Given the description of an element on the screen output the (x, y) to click on. 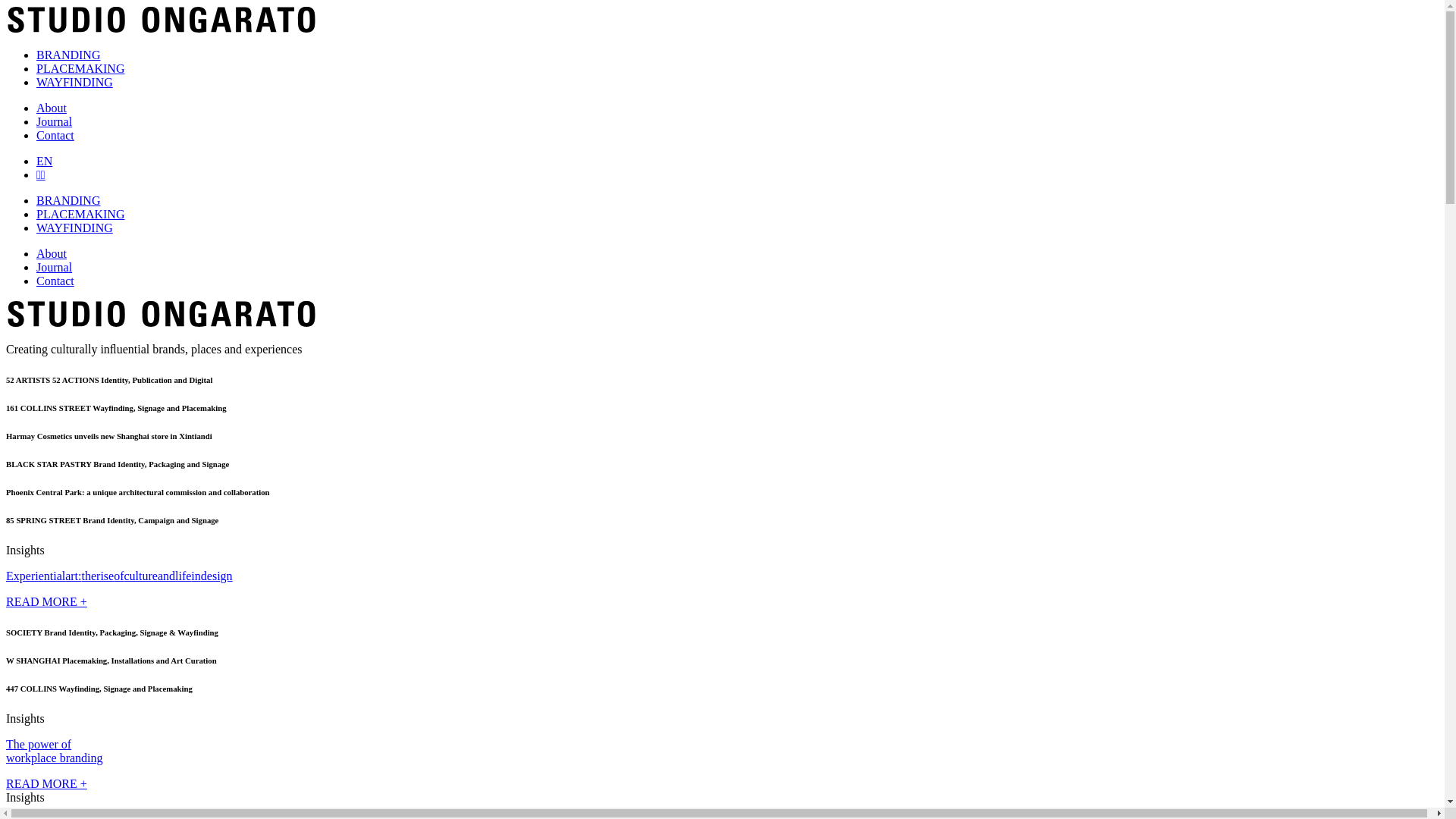
WAYFINDING Element type: text (74, 81)
PLACEMAKING Element type: text (80, 68)
PLACEMAKING Element type: text (80, 213)
Journal Element type: text (54, 266)
READ MORE + Element type: text (46, 783)
WAYFINDING Element type: text (74, 227)
EN Element type: text (44, 160)
Contact Element type: text (55, 280)
About Element type: text (51, 253)
READ MORE + Element type: text (46, 601)
BRANDING Element type: text (68, 54)
About Element type: text (51, 107)
Experientialart:theriseofcultureandlifeindesign Element type: text (722, 576)
The power of
workplace branding Element type: text (722, 763)
Contact Element type: text (55, 134)
BRANDING Element type: text (68, 200)
Journal Element type: text (54, 121)
